Given the description of an element on the screen output the (x, y) to click on. 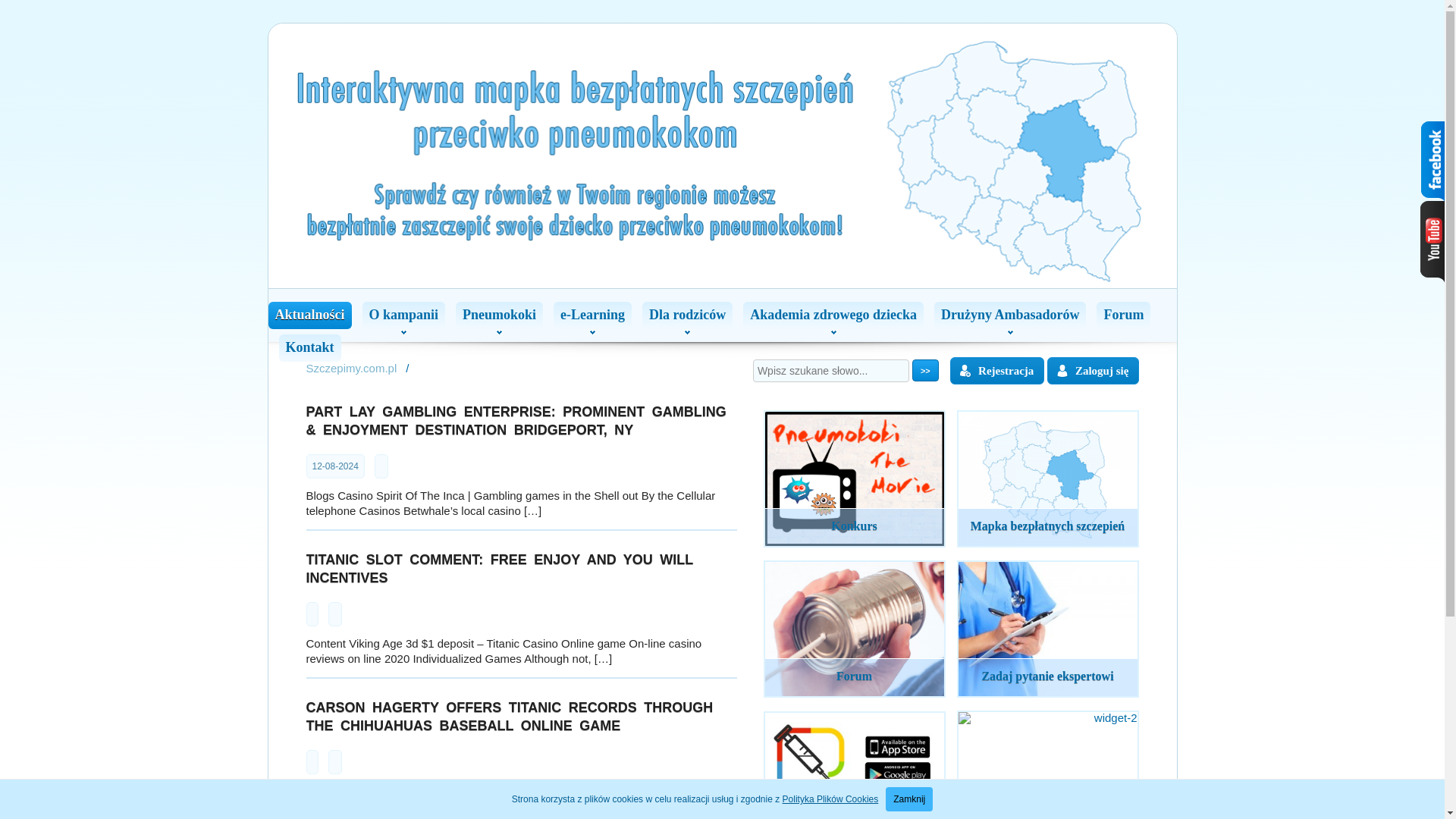
Homepage (351, 367)
Pneumokoki (499, 315)
e-Learning (592, 315)
O kampanii (403, 315)
